Given the description of an element on the screen output the (x, y) to click on. 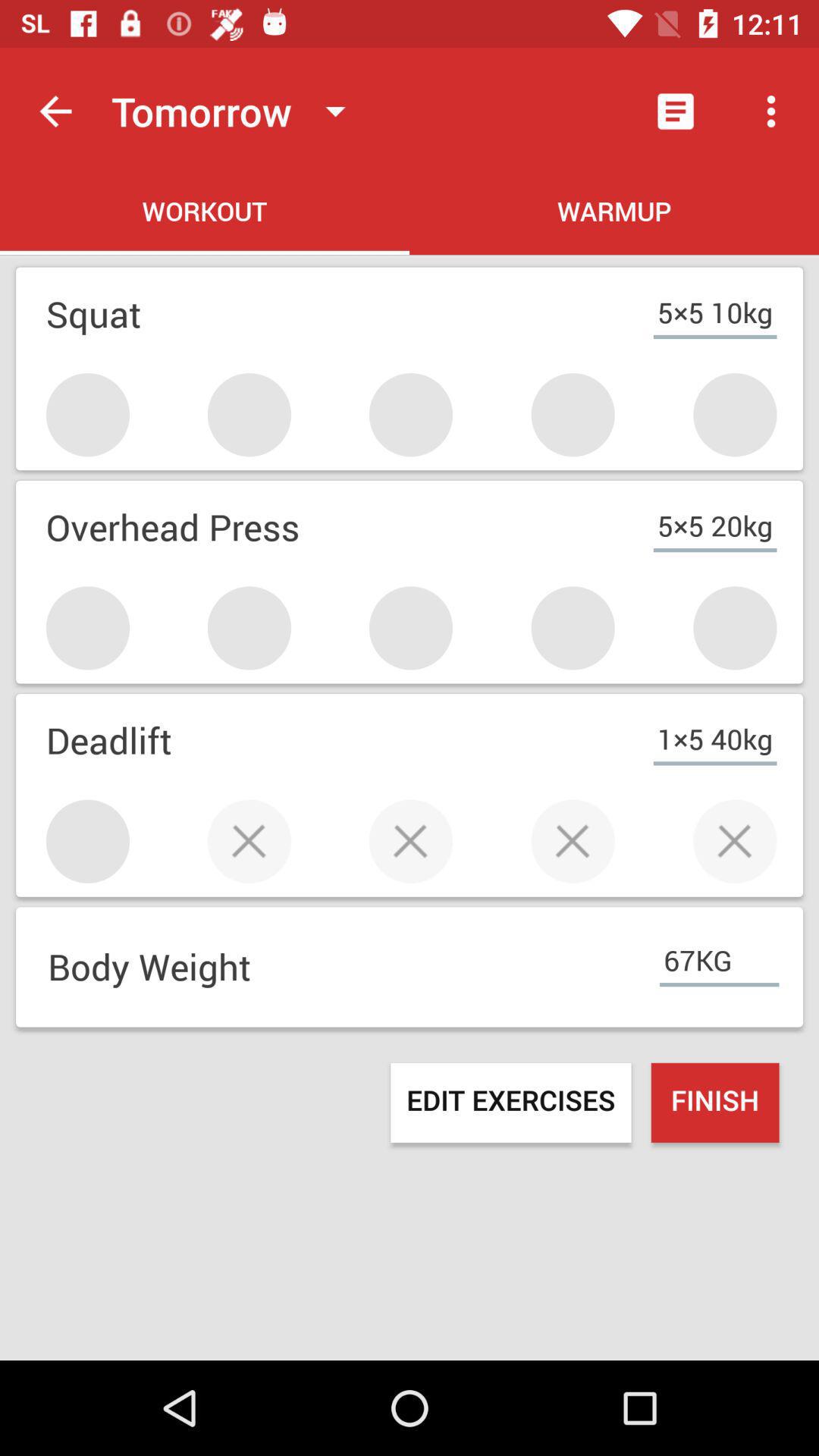
turn off 67kg item (719, 953)
